Given the description of an element on the screen output the (x, y) to click on. 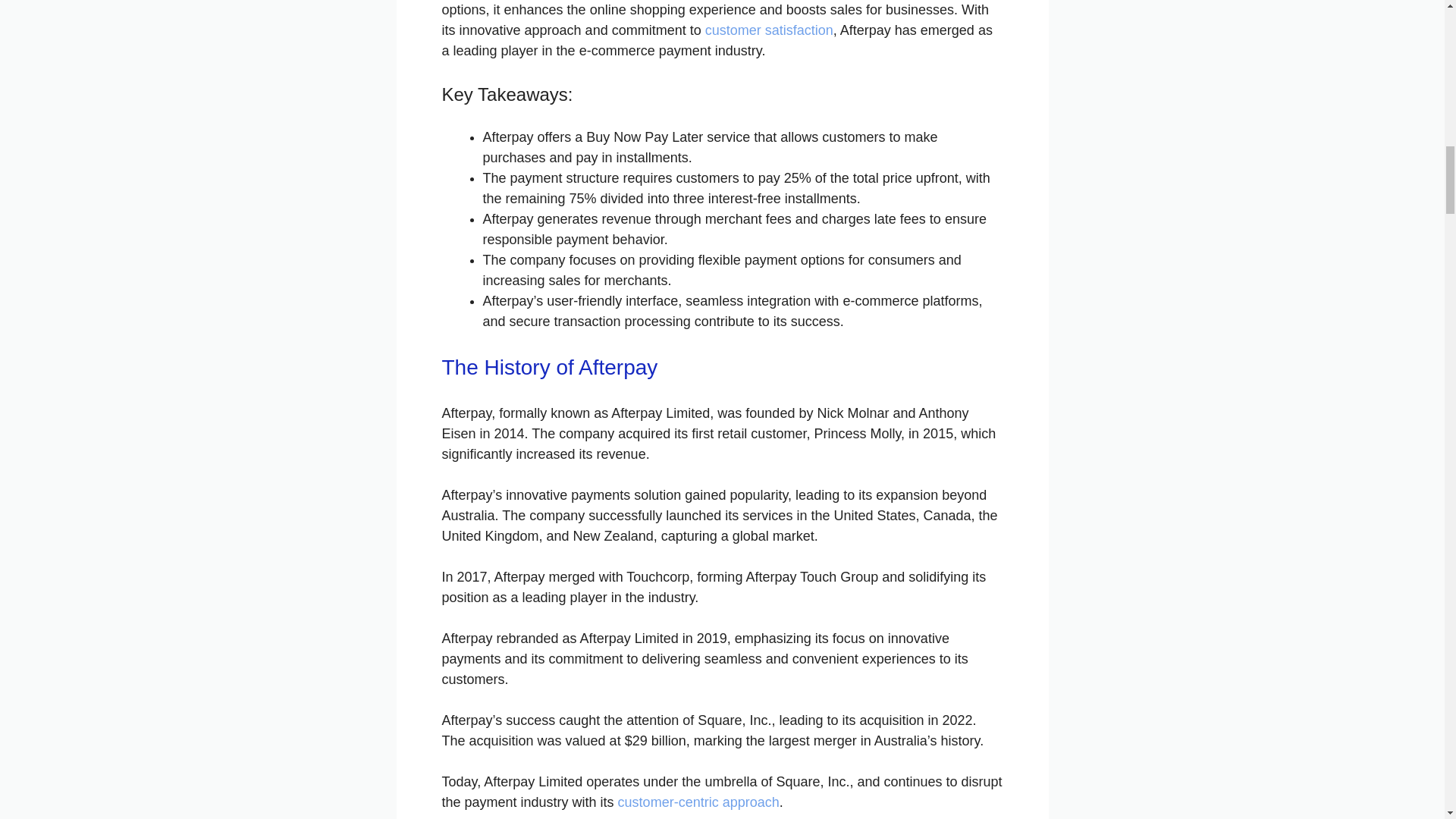
customer satisfaction (768, 29)
customer-centric approach (697, 801)
customer-centric approach (697, 801)
customer satisfaction (768, 29)
